Given the description of an element on the screen output the (x, y) to click on. 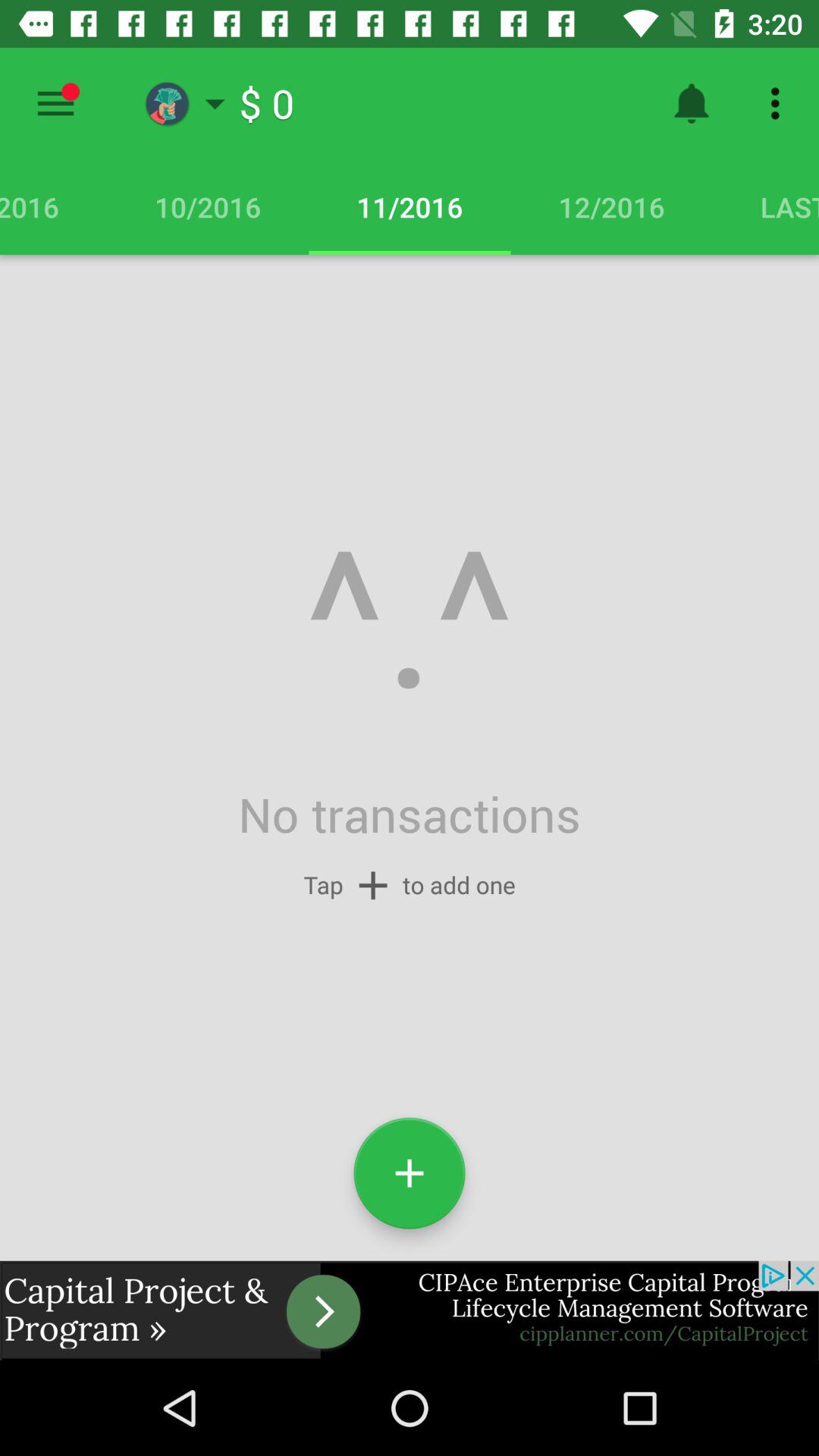
menu icon (55, 103)
